Given the description of an element on the screen output the (x, y) to click on. 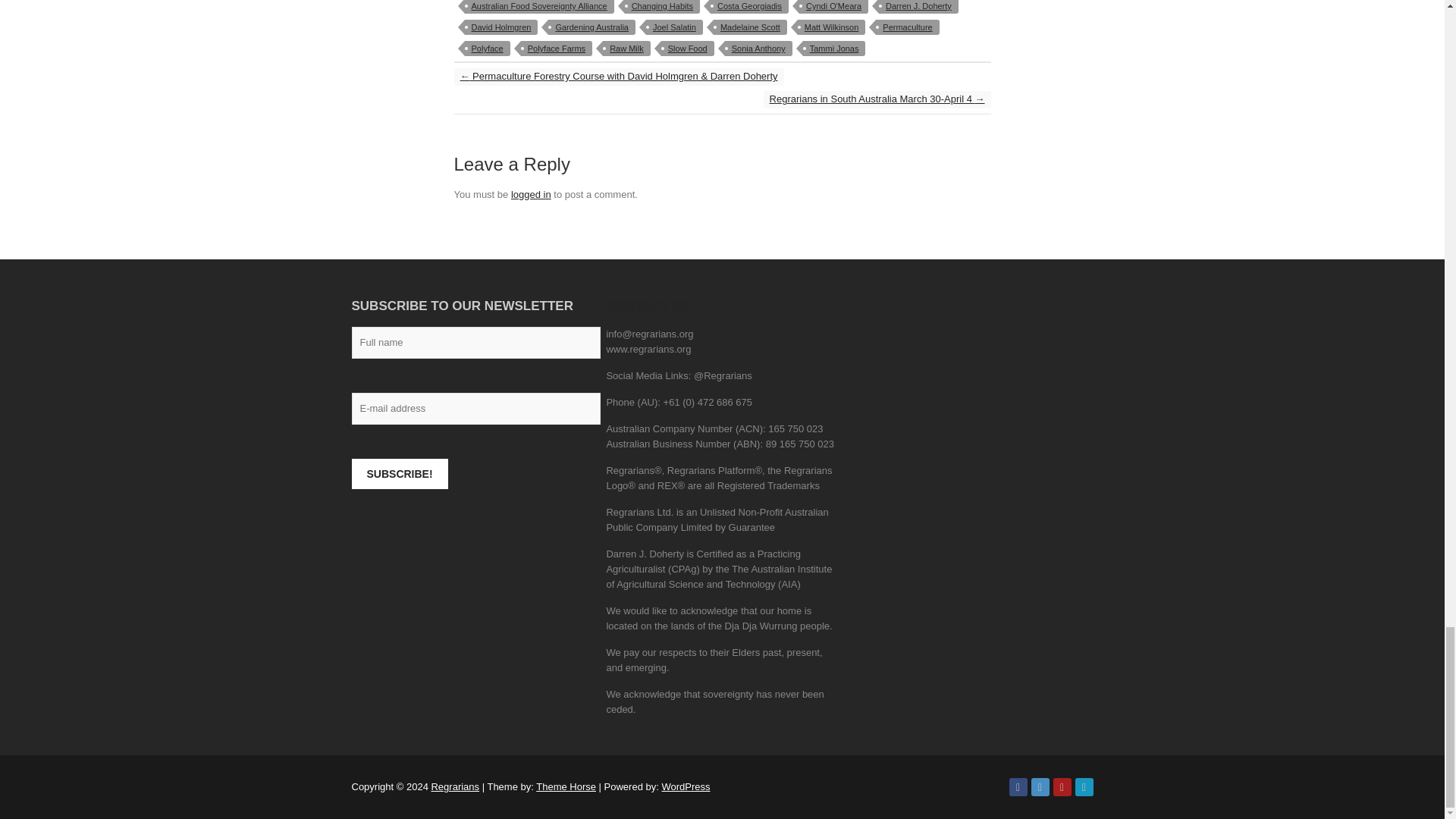
Regrarians (454, 786)
Regrarians on Vimeo (1084, 787)
Regrarians on Twitter (1039, 787)
Regrarians on Facebook (1017, 787)
Theme Horse (565, 786)
WordPress (685, 786)
SUBSCRIBE! (400, 473)
Regrarians on Youtube (1061, 787)
